Given the description of an element on the screen output the (x, y) to click on. 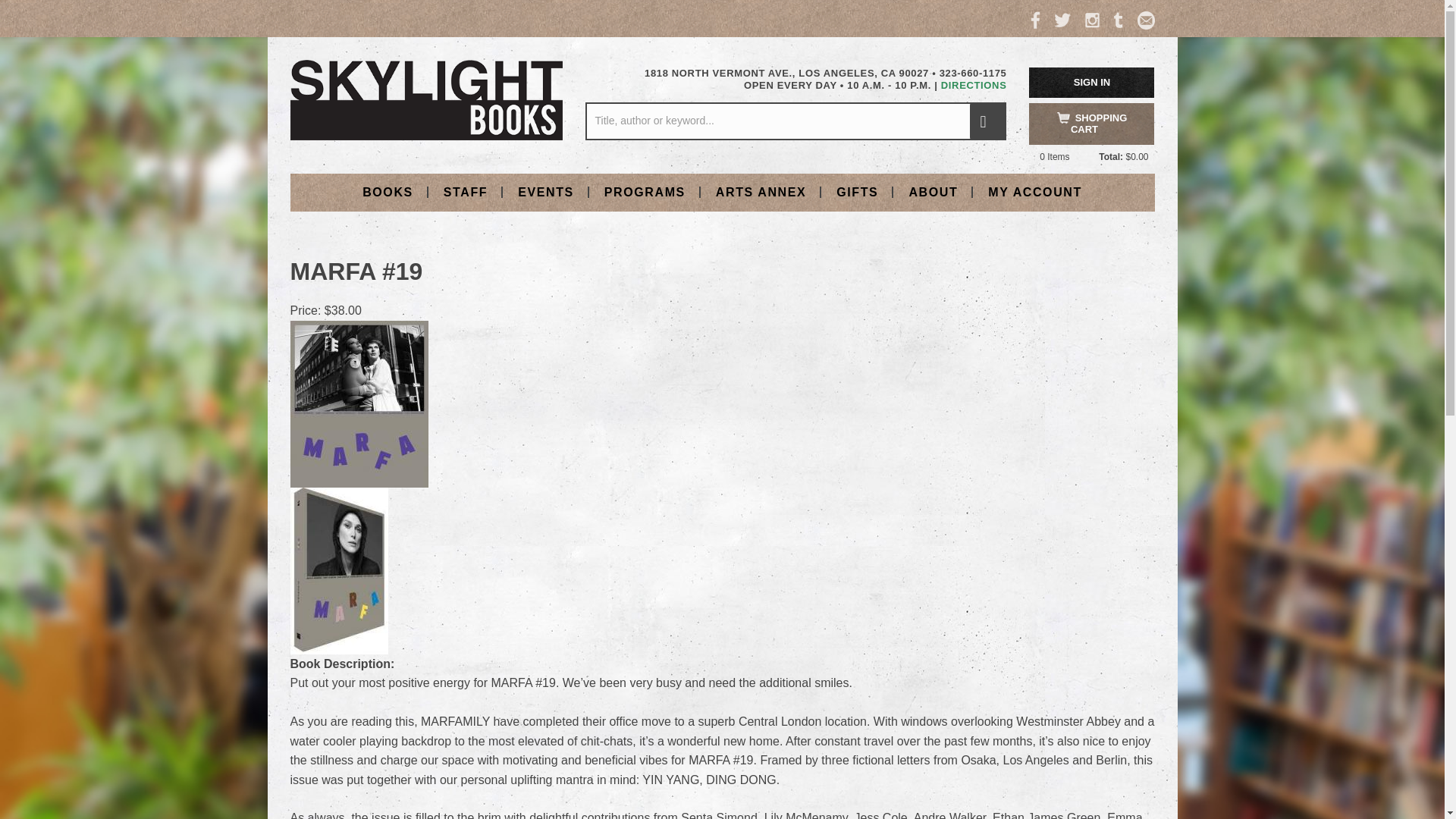
DIRECTIONS (973, 84)
GIFTS (857, 191)
EVENTS (545, 191)
ARTS ANNEX (760, 191)
BOOKS (387, 191)
STAFF (465, 191)
SIGN IN (1091, 81)
Title, author or keyword... (795, 121)
SHOPPING CART (1091, 123)
search (987, 121)
PROGRAMS (644, 191)
search (987, 121)
Home (425, 98)
